Given the description of an element on the screen output the (x, y) to click on. 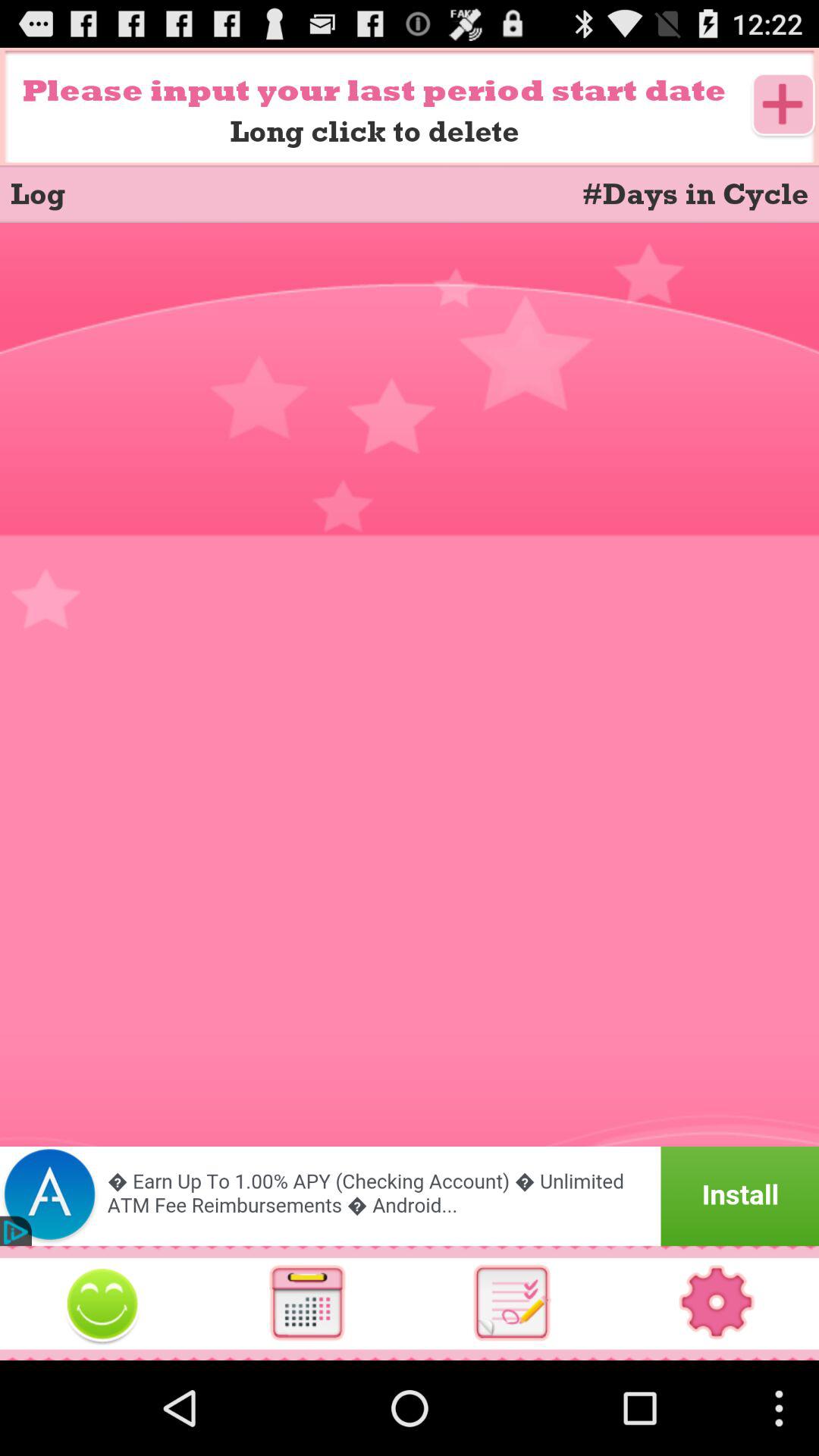
period input indicator (409, 1196)
